Given the description of an element on the screen output the (x, y) to click on. 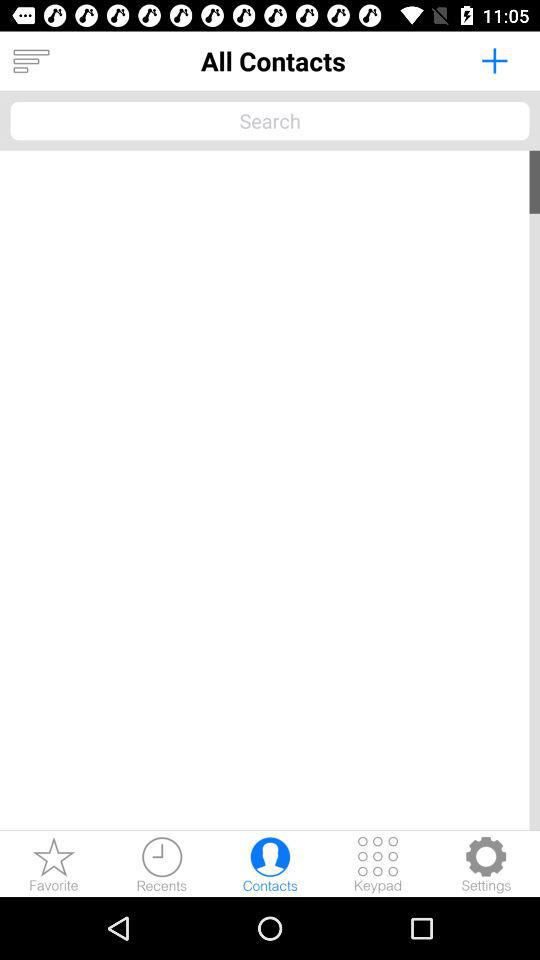
select recent contacts (161, 864)
